Given the description of an element on the screen output the (x, y) to click on. 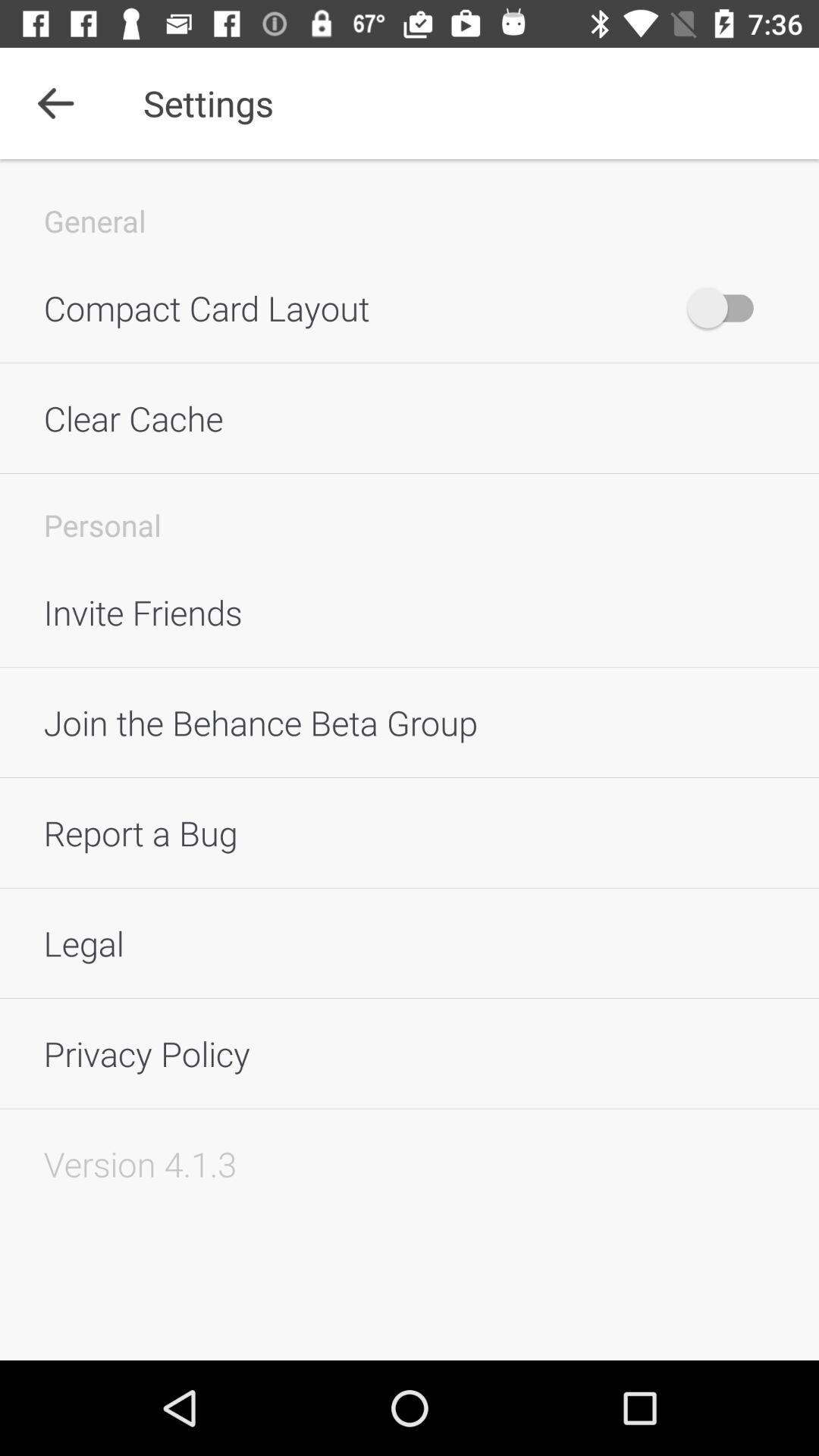
choose the icon below the personal icon (409, 612)
